Given the description of an element on the screen output the (x, y) to click on. 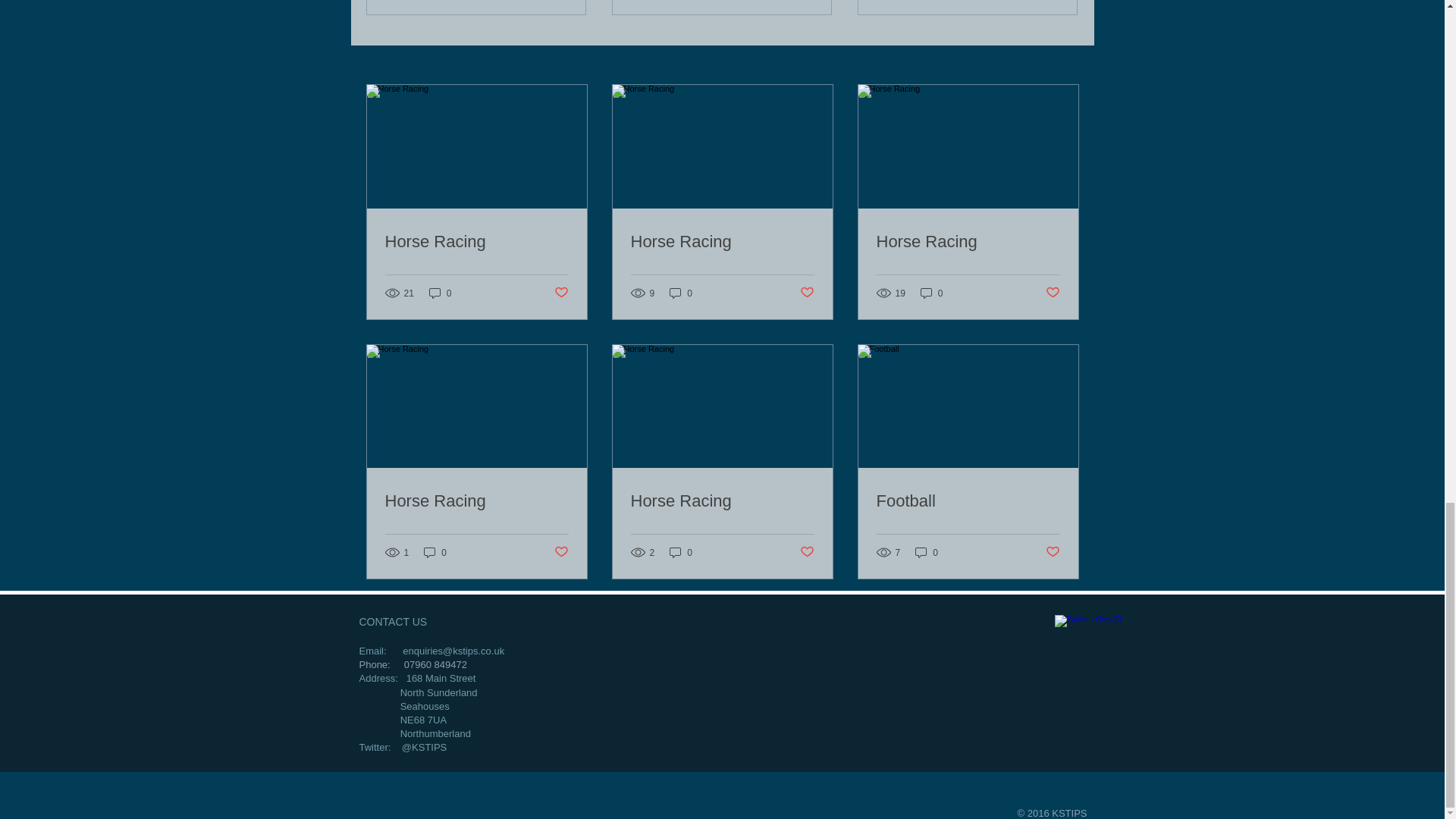
Post not marked as liked (806, 293)
Horse Racing (721, 241)
Horse Racing (967, 241)
Post not marked as liked (560, 293)
0 (440, 292)
Horse Racing (477, 241)
0 (681, 292)
